Given the description of an element on the screen output the (x, y) to click on. 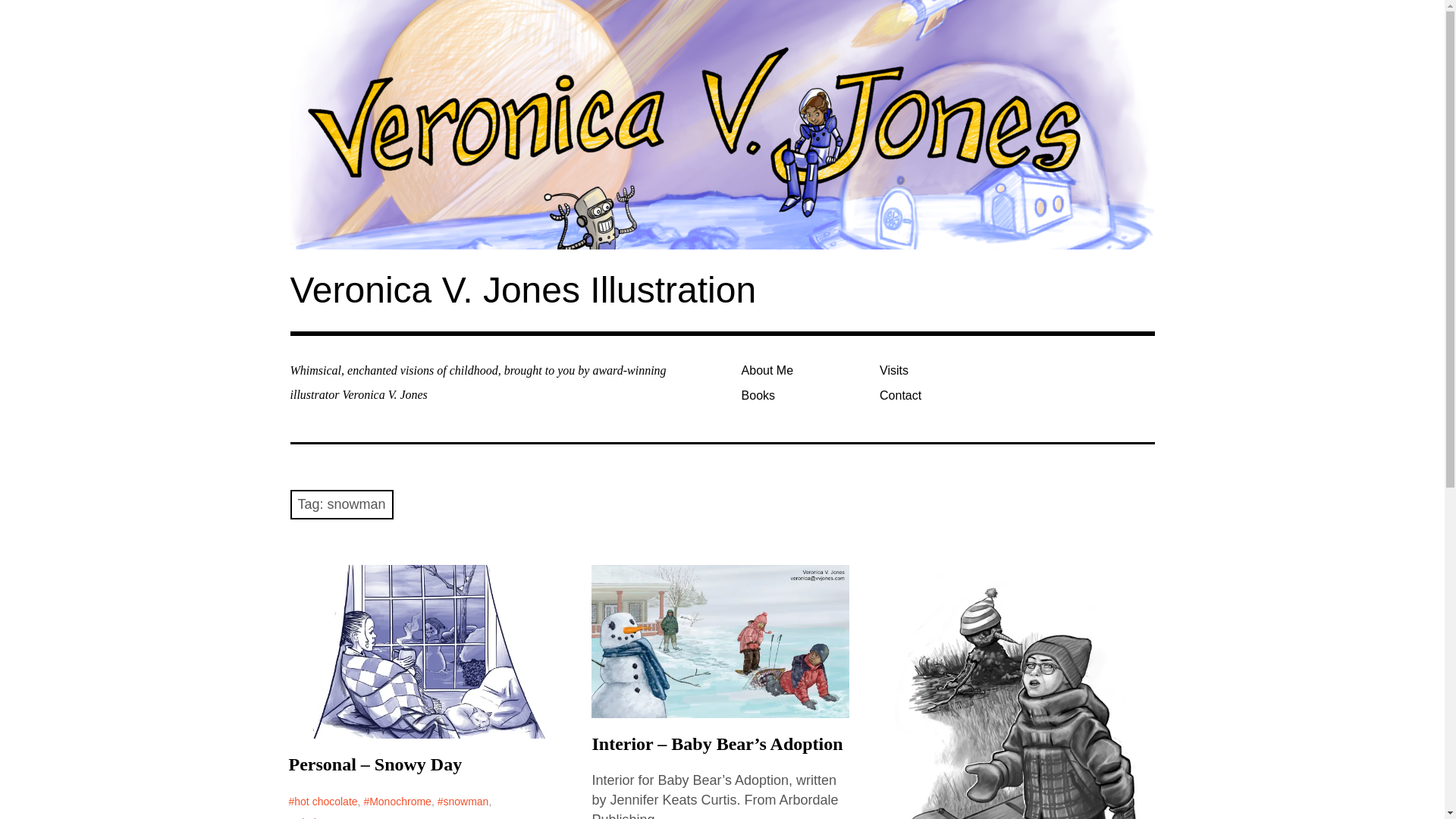
Veronica V. Jones Illustration (522, 290)
Visits (942, 370)
About Me (804, 370)
window seat (320, 815)
Monochrome (396, 801)
snowman (463, 801)
hot chocolate (322, 801)
Books (804, 395)
Contact (942, 395)
